Given the description of an element on the screen output the (x, y) to click on. 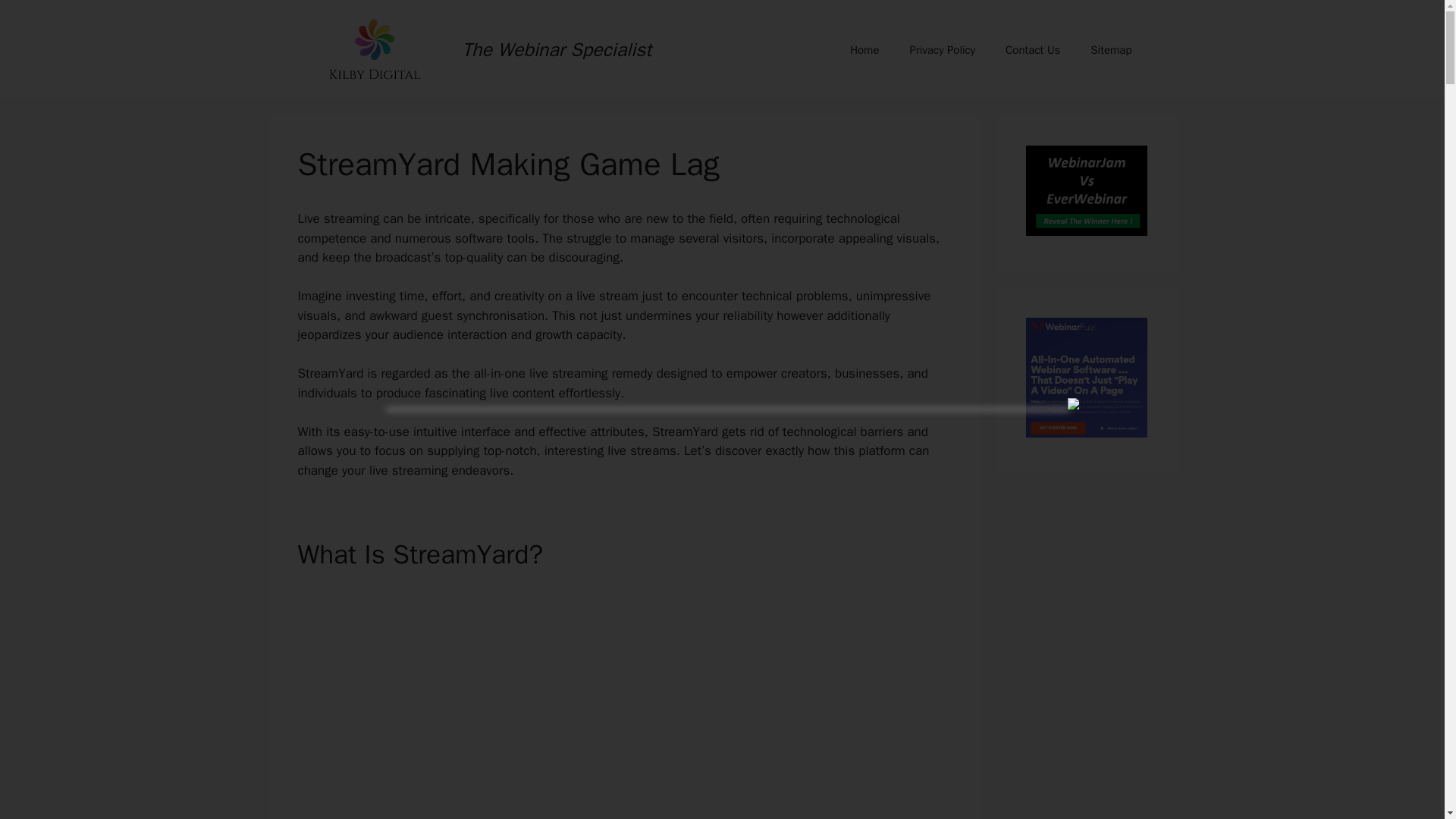
Contact Us (1032, 49)
The Webinar Specialist (557, 49)
Privacy Policy (941, 49)
Home (863, 49)
Sitemap (1111, 49)
